Given the description of an element on the screen output the (x, y) to click on. 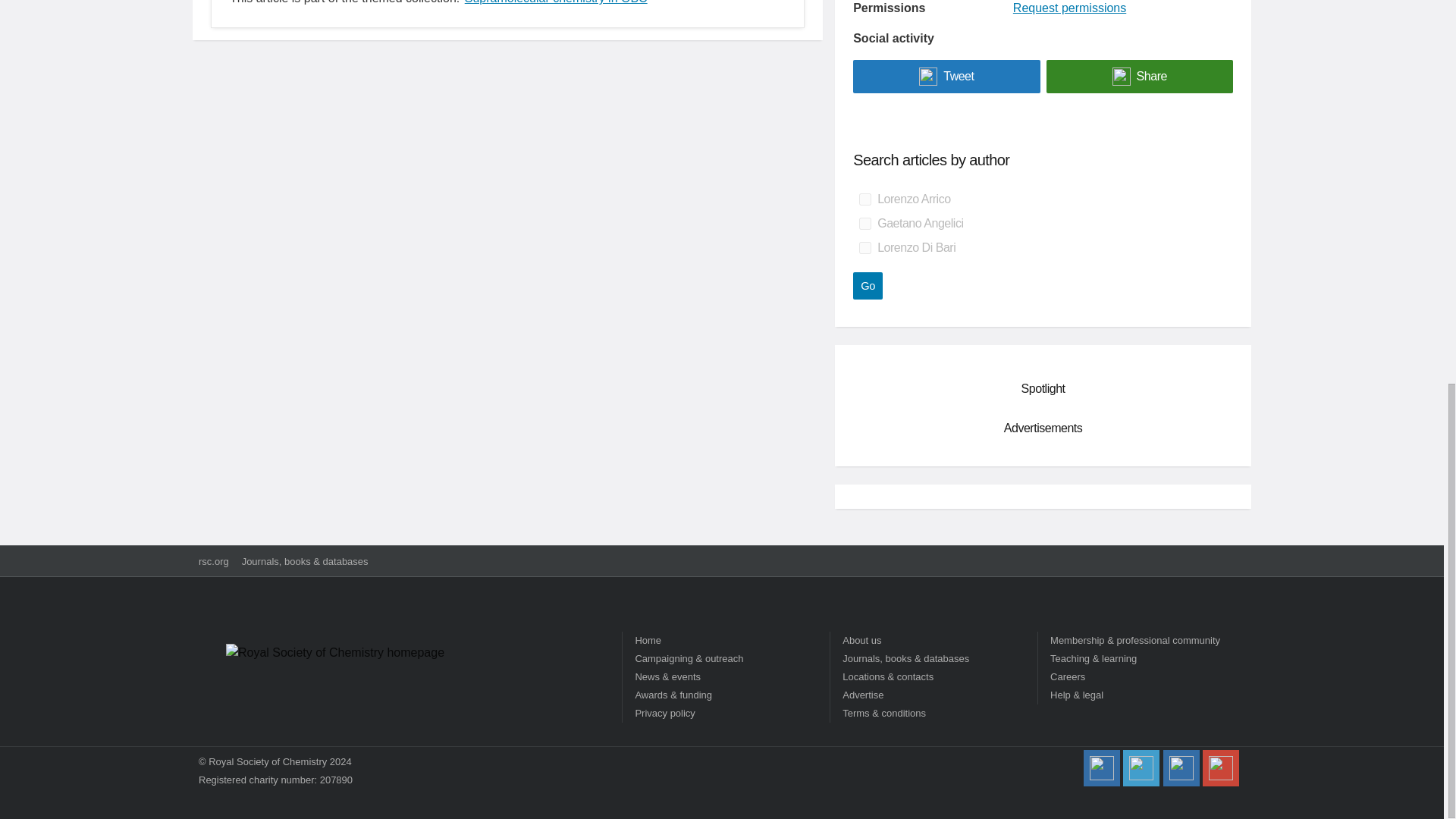
Go (867, 285)
Supramolecular chemistry in OBC (556, 2)
on (864, 247)
Go (867, 285)
on (864, 199)
on (864, 223)
Request permissions (1068, 7)
